Given the description of an element on the screen output the (x, y) to click on. 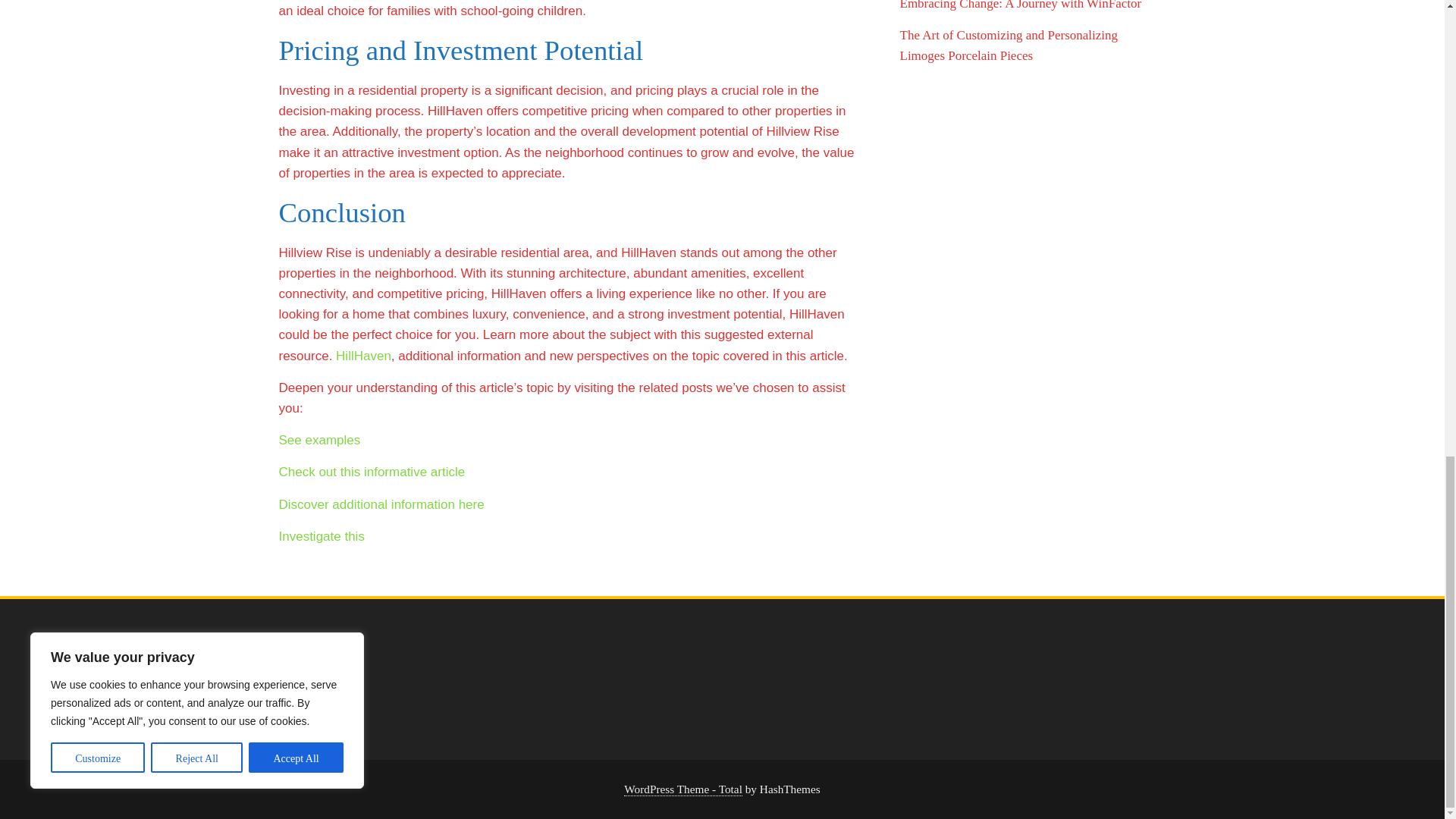
Investigate this (322, 536)
Discover additional information here (381, 504)
Check out this informative article (372, 472)
See examples (320, 440)
HillHaven (363, 355)
